Given the description of an element on the screen output the (x, y) to click on. 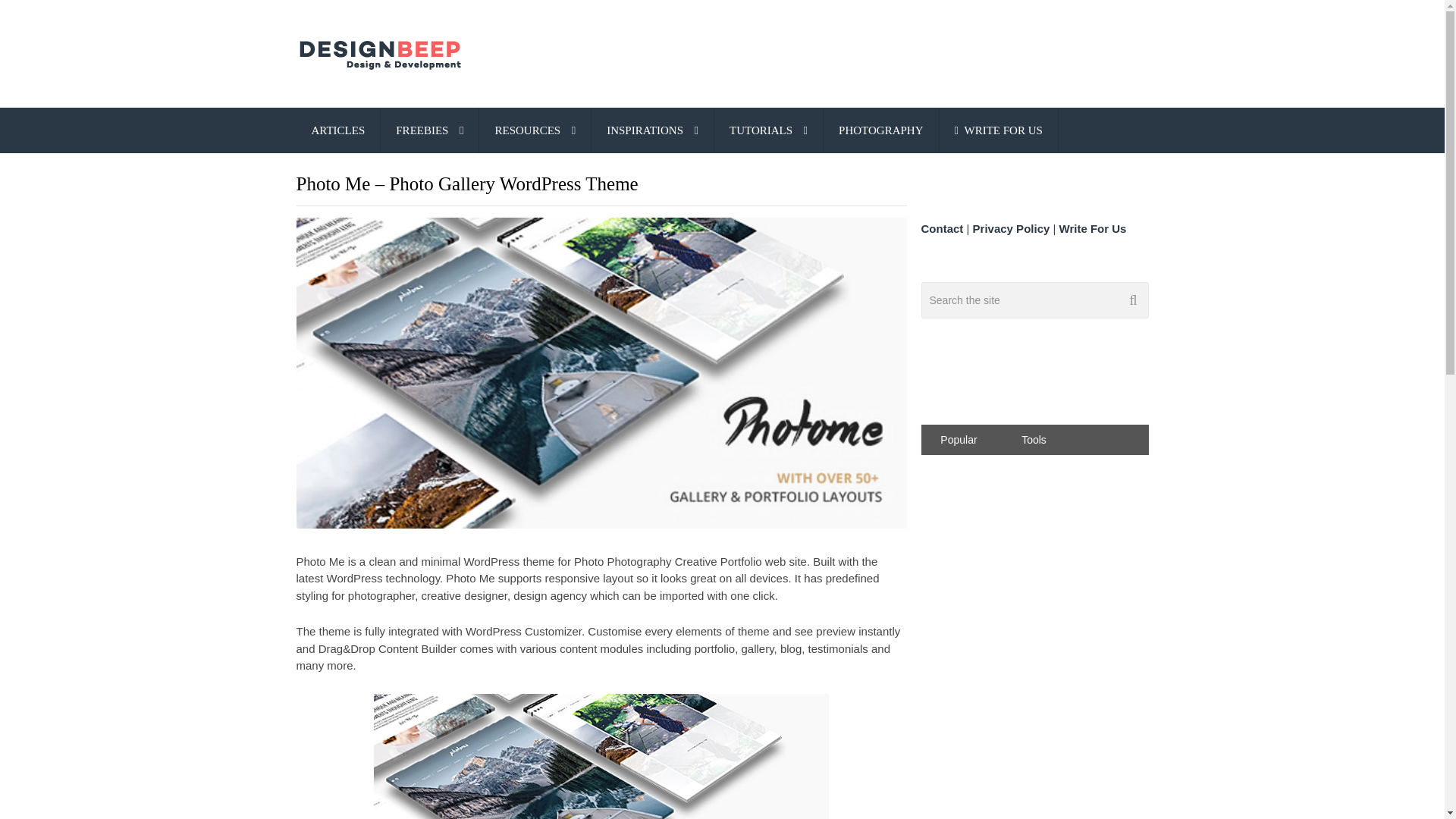
FREEBIES (429, 130)
TUTORIALS (768, 130)
RESOURCES (535, 130)
INSPIRATIONS (652, 130)
PHOTOGRAPHY (880, 130)
ARTICLES (337, 130)
WRITE FOR US (998, 130)
